Given the description of an element on the screen output the (x, y) to click on. 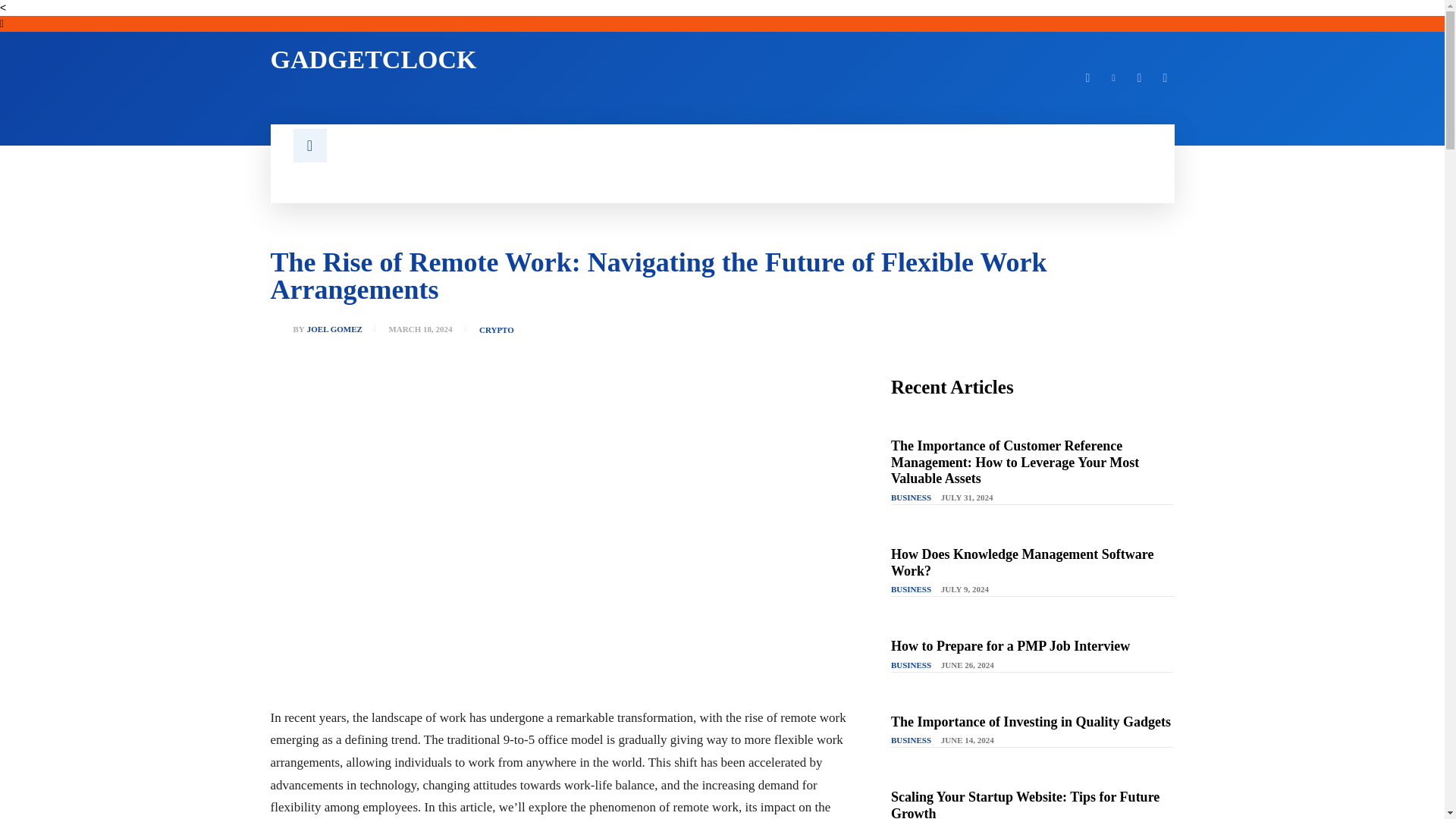
How Does Knowledge Management Software Work? (1022, 562)
Linkedin (1112, 77)
Joel Gomez (280, 328)
Youtube (1164, 77)
Scaling Your Startup Website: Tips for Future Growth (1024, 804)
The Importance of Investing in Quality Gadgets (1030, 721)
How to Prepare for a PMP Job Interview (1010, 645)
Twitter (1138, 77)
Facebook (1087, 77)
